Given the description of an element on the screen output the (x, y) to click on. 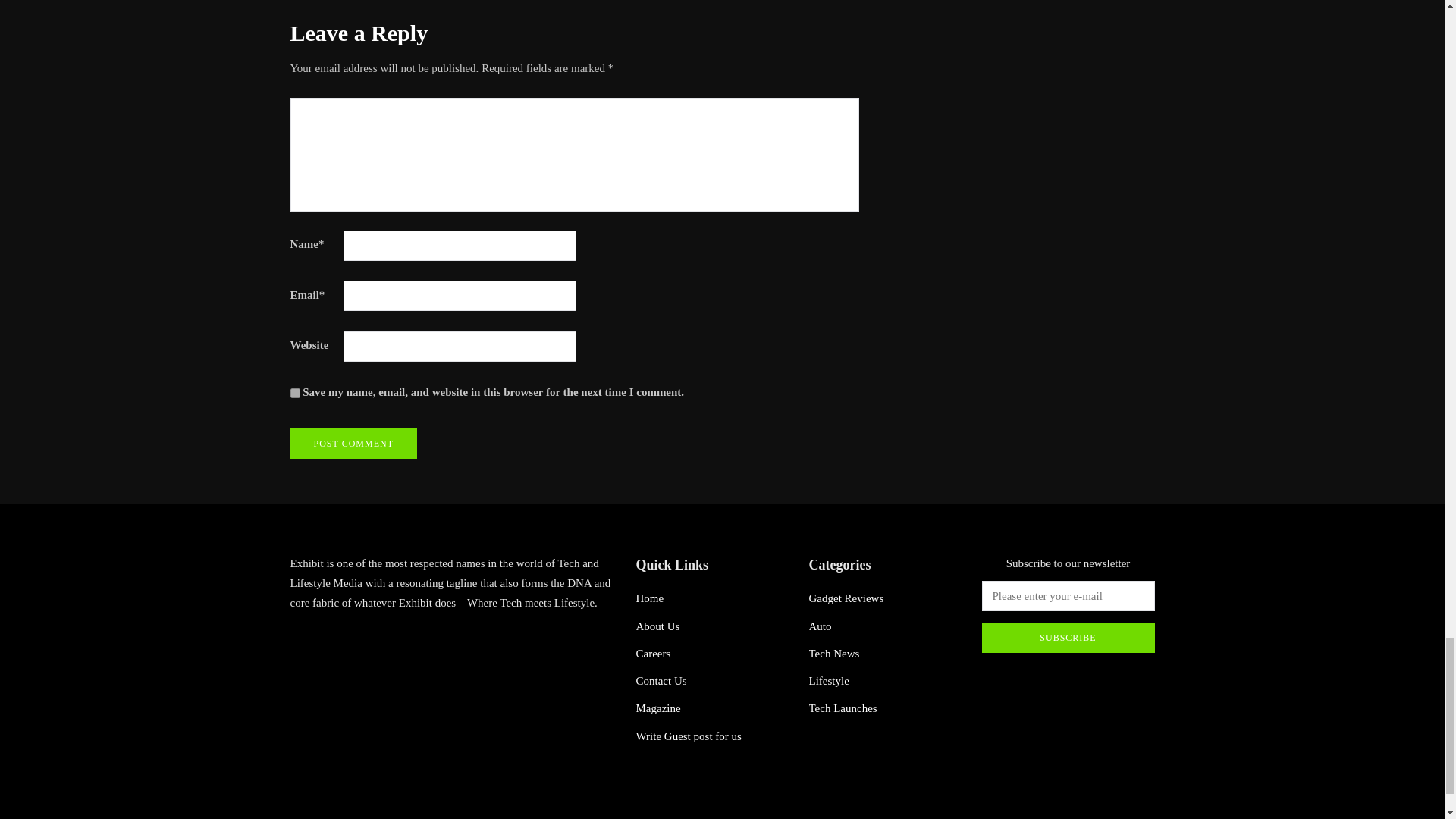
yes (294, 393)
Post comment (352, 443)
